Given the description of an element on the screen output the (x, y) to click on. 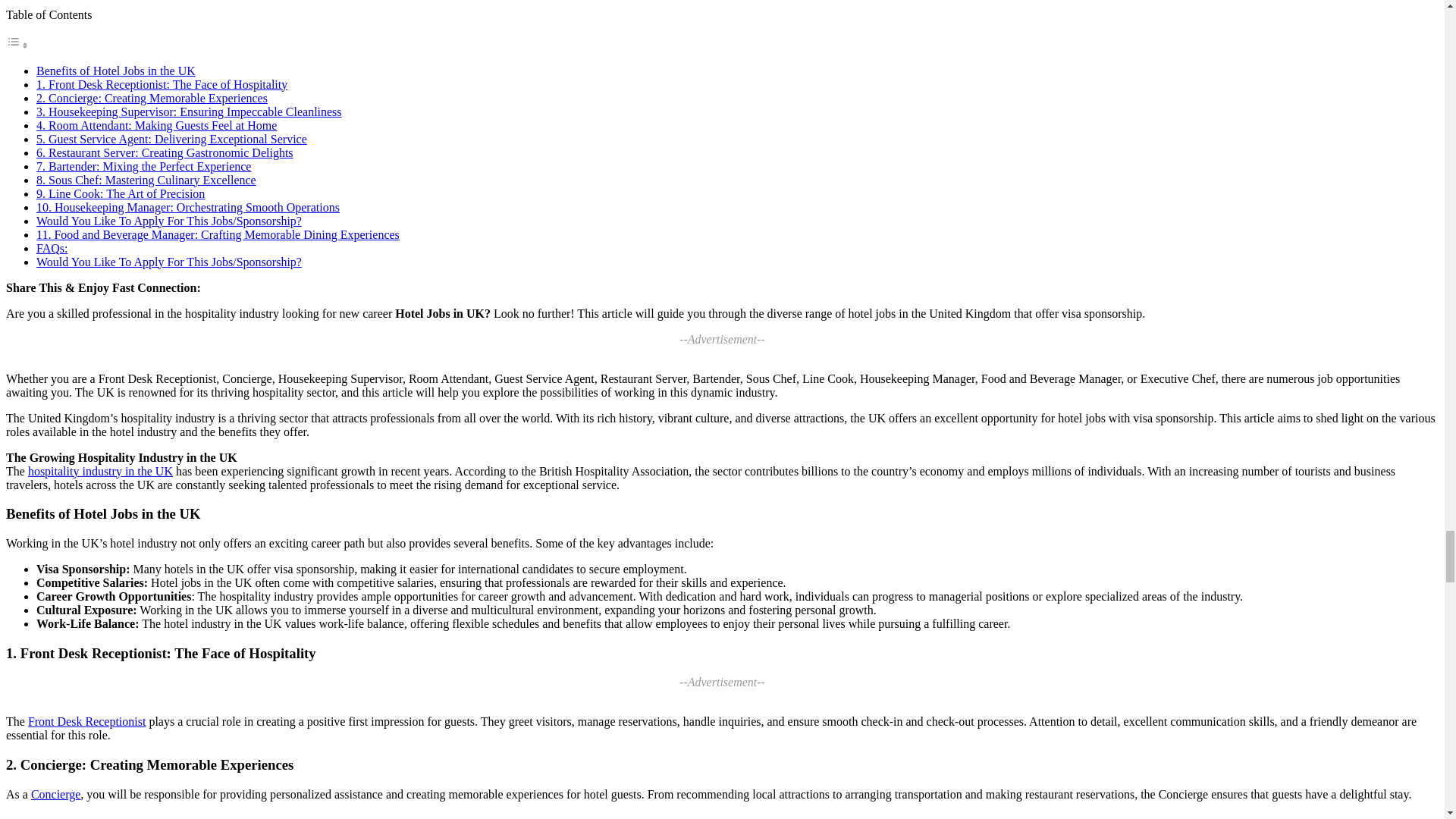
5. Guest Service Agent: Delivering Exceptional Service (171, 137)
3. Housekeeping Supervisor: Ensuring Impeccable Cleanliness (189, 110)
8. Sous Chef: Mastering Culinary Excellence (146, 178)
7. Bartender: Mixing the Perfect Experience (143, 164)
4. Room Attendant: Making Guests Feel at Home (156, 124)
1. Front Desk Receptionist: The Face of Hospitality (161, 83)
2. Concierge: Creating Memorable Experiences (151, 97)
10. Housekeeping Manager: Orchestrating Smooth Operations (187, 205)
9. Line Cook: The Art of Precision (120, 192)
6. Restaurant Server: Creating Gastronomic Delights (165, 151)
Benefits of Hotel Jobs in the UK (115, 69)
